Given the description of an element on the screen output the (x, y) to click on. 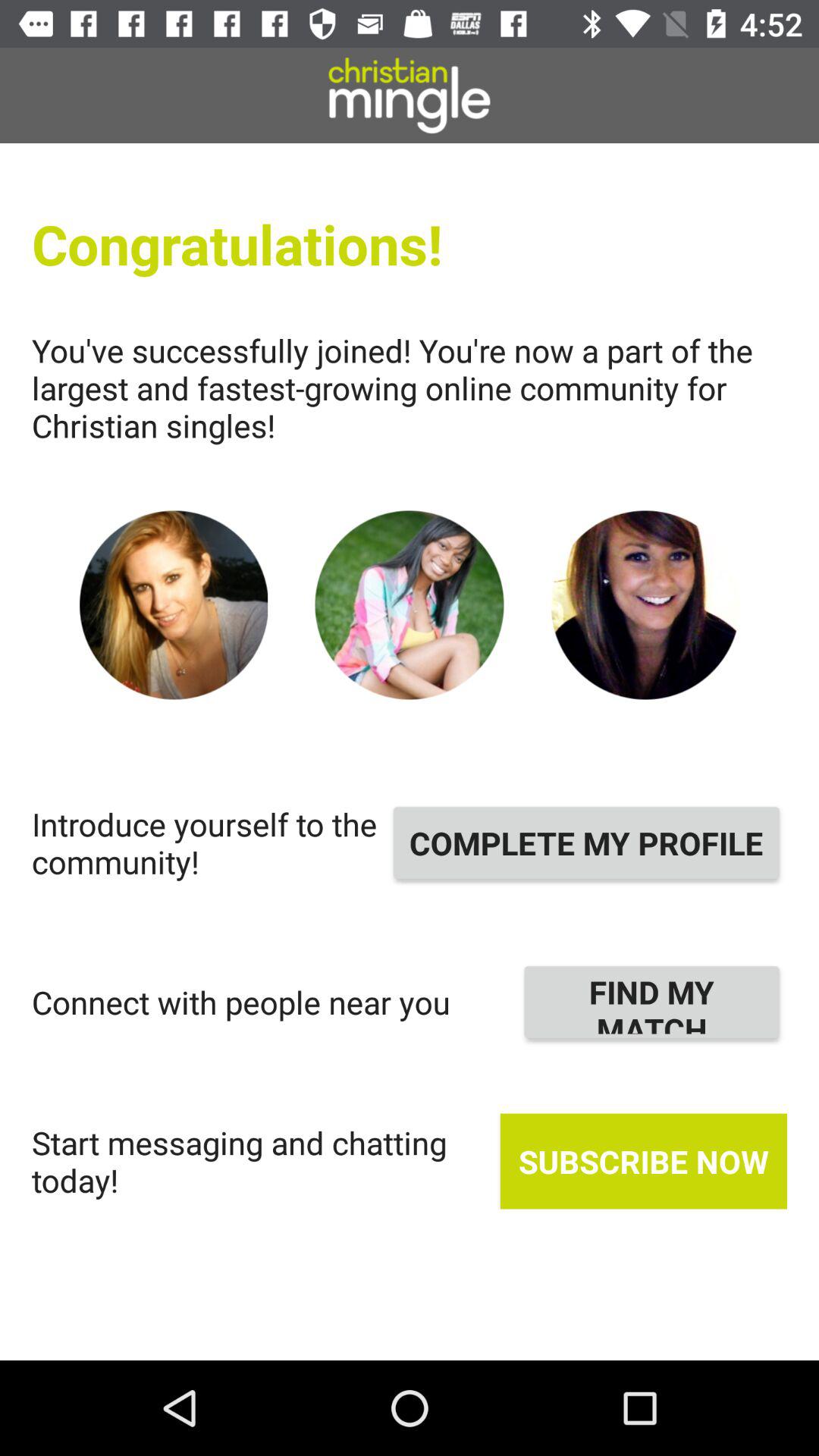
press subscribe now (643, 1161)
